Given the description of an element on the screen output the (x, y) to click on. 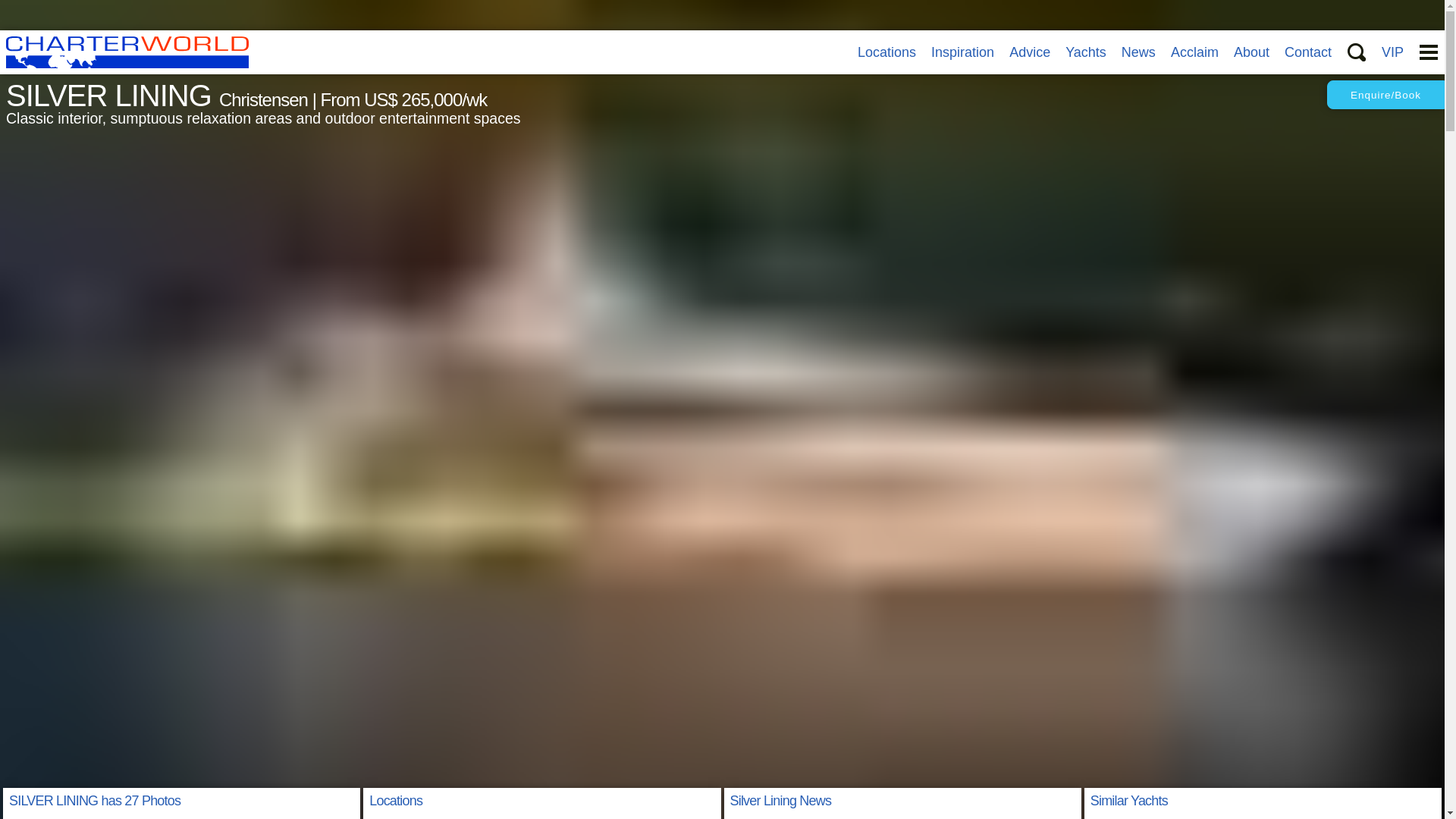
Advice (1029, 51)
Locations (886, 51)
News (1138, 51)
Contact (1308, 51)
Silver Lining News (780, 800)
About (1251, 51)
Inspiration (962, 51)
Yachts (1085, 51)
Acclaim (1194, 51)
